Given the description of an element on the screen output the (x, y) to click on. 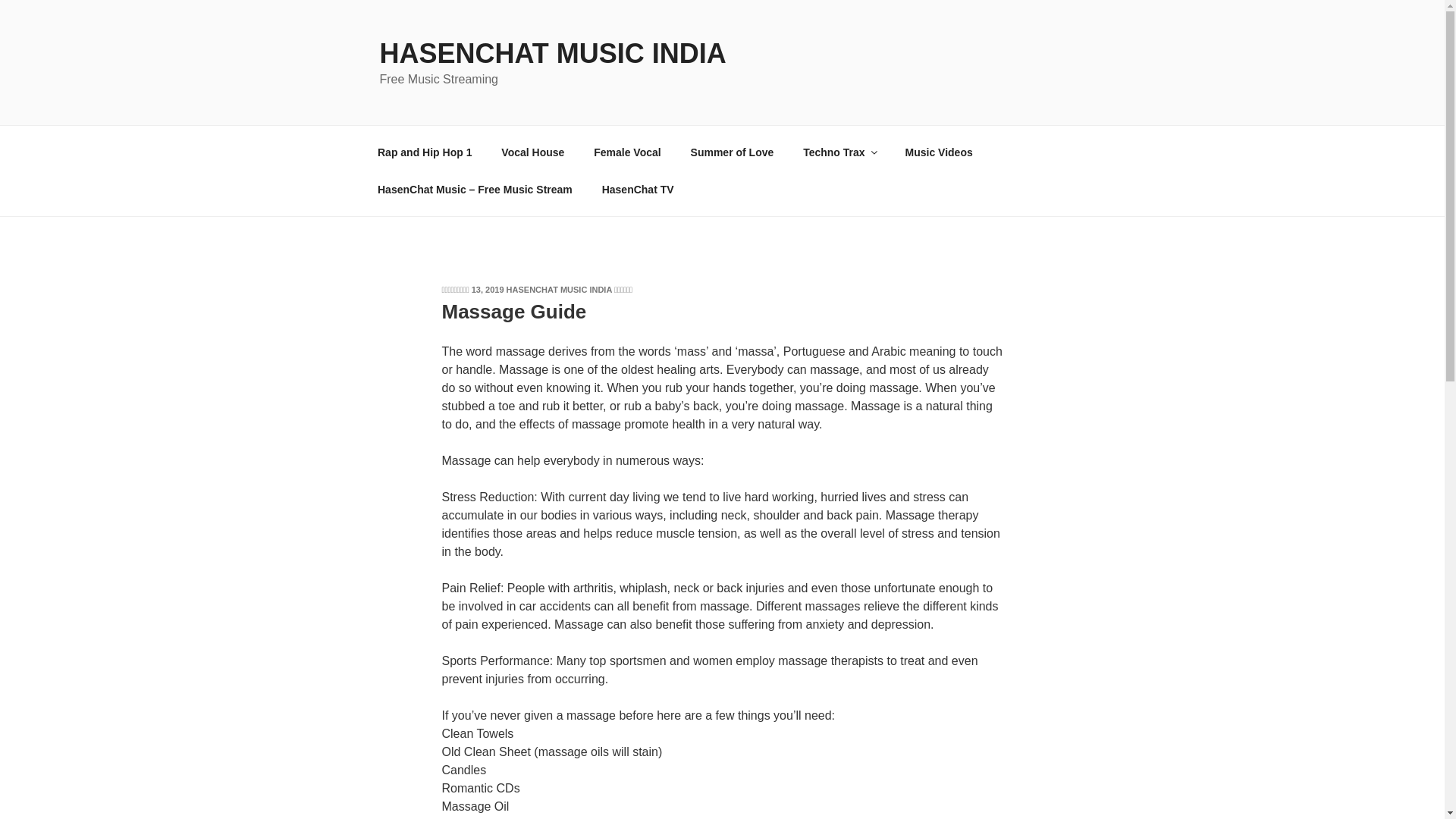
Rap and Hip Hop 1 (424, 151)
Summer of Love (732, 151)
HASENCHAT MUSIC INDIA (551, 52)
Vocal House (532, 151)
Female Vocal (627, 151)
Music Videos (938, 151)
HASENCHAT MUSIC INDIA (558, 289)
Techno Trax (839, 151)
HasenChat TV (637, 189)
